Given the description of an element on the screen output the (x, y) to click on. 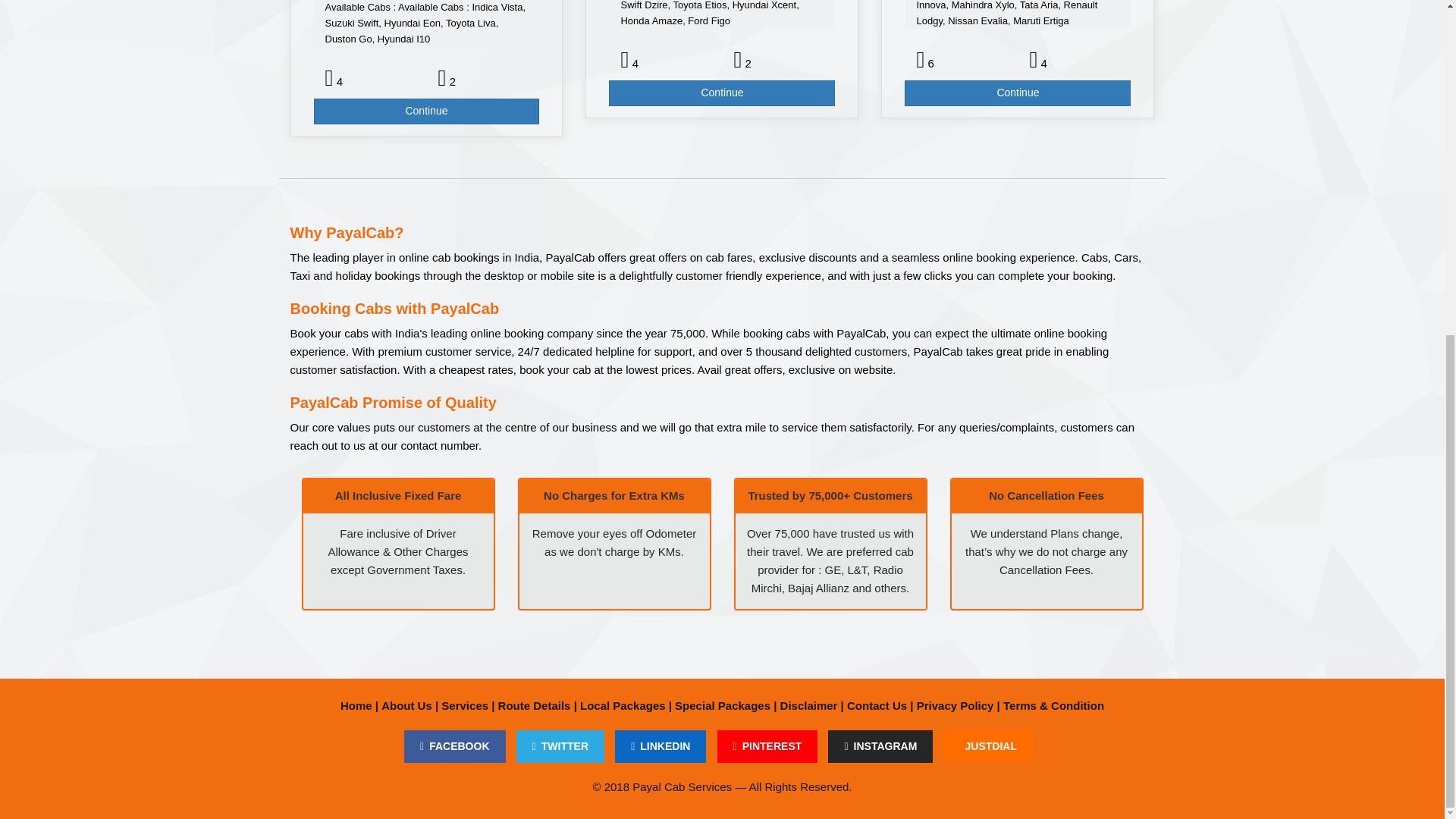
PINTEREST (767, 746)
Continue (721, 93)
Continue (427, 111)
JUSTDIAL (987, 746)
LINKEDIN (660, 746)
FACEBOOK (454, 746)
Continue (1017, 93)
INSTAGRAM (880, 746)
TWITTER (560, 746)
